Given the description of an element on the screen output the (x, y) to click on. 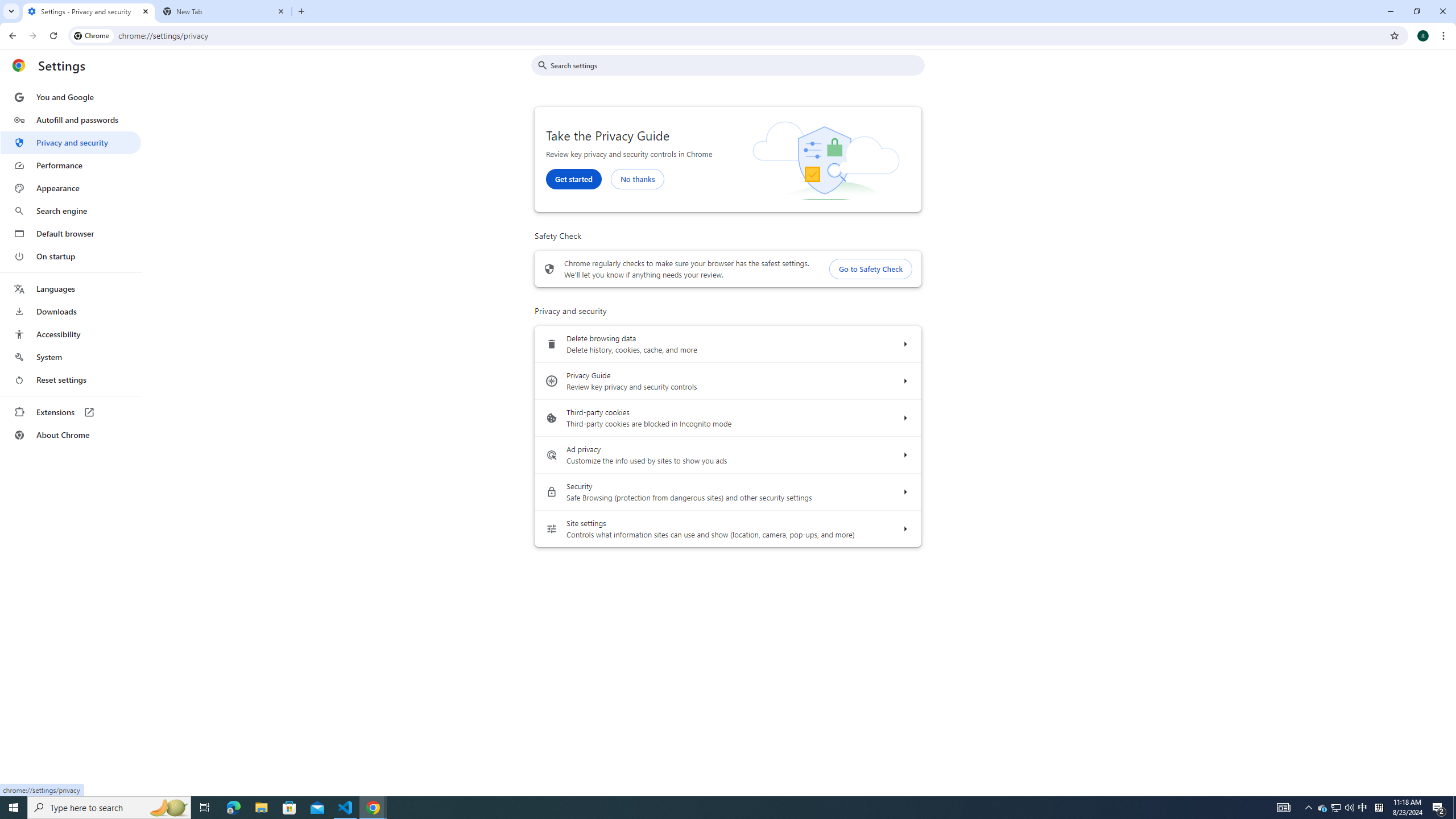
No thanks (637, 178)
Go to Safety Check (870, 269)
Performance (70, 164)
Get started (573, 178)
Extensions (70, 412)
Search settings (735, 65)
Ad privacy Customize the info used by sites to show you ads (904, 454)
